Given the description of an element on the screen output the (x, y) to click on. 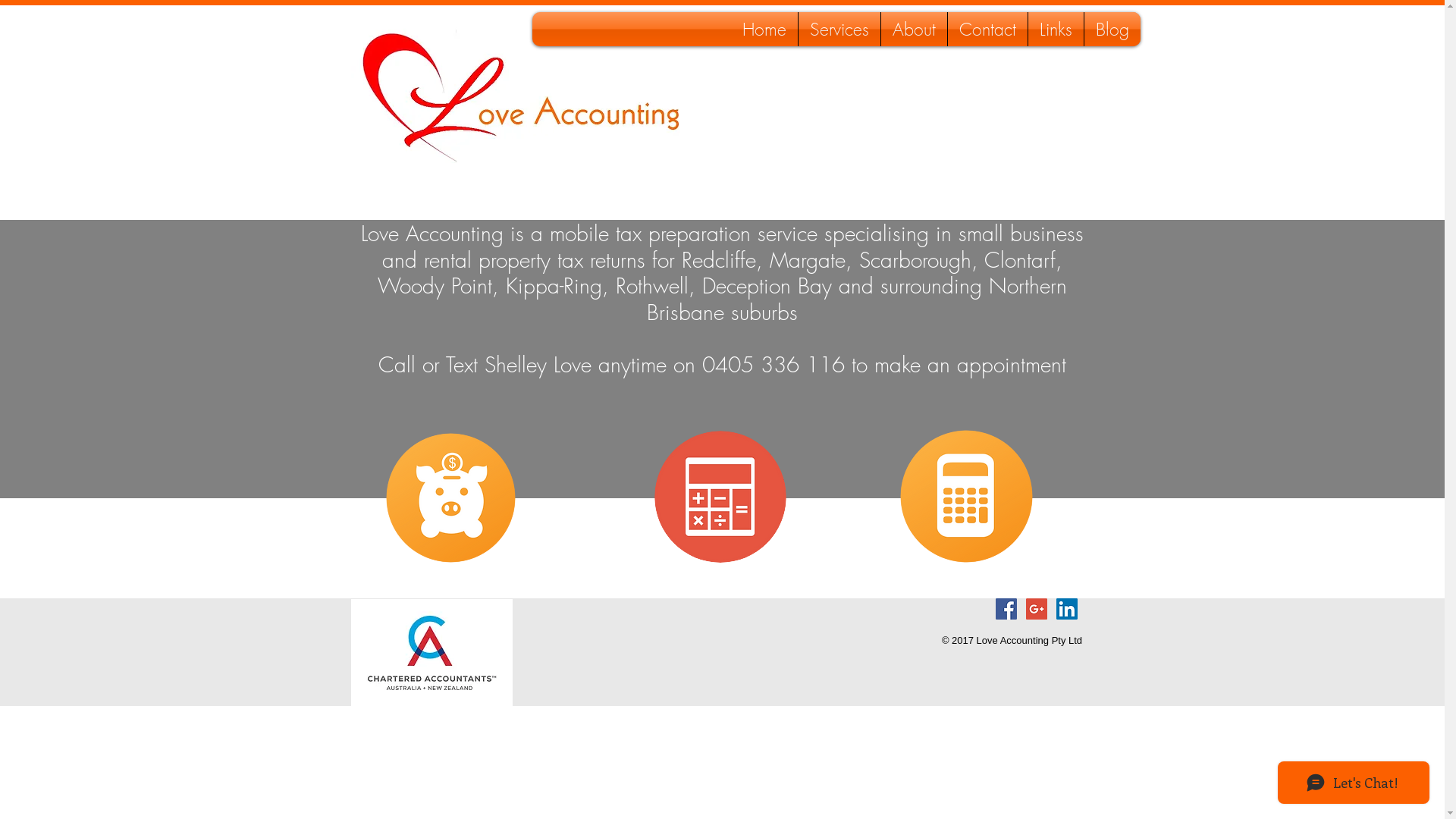
About Element type: text (914, 29)
Contact Element type: text (987, 29)
Links Element type: text (1055, 29)
Home Element type: text (764, 29)
Services Element type: text (838, 29)
LOVE ACCOUNTING Element type: text (412, 75)
Blog Element type: text (1112, 29)
